Given the description of an element on the screen output the (x, y) to click on. 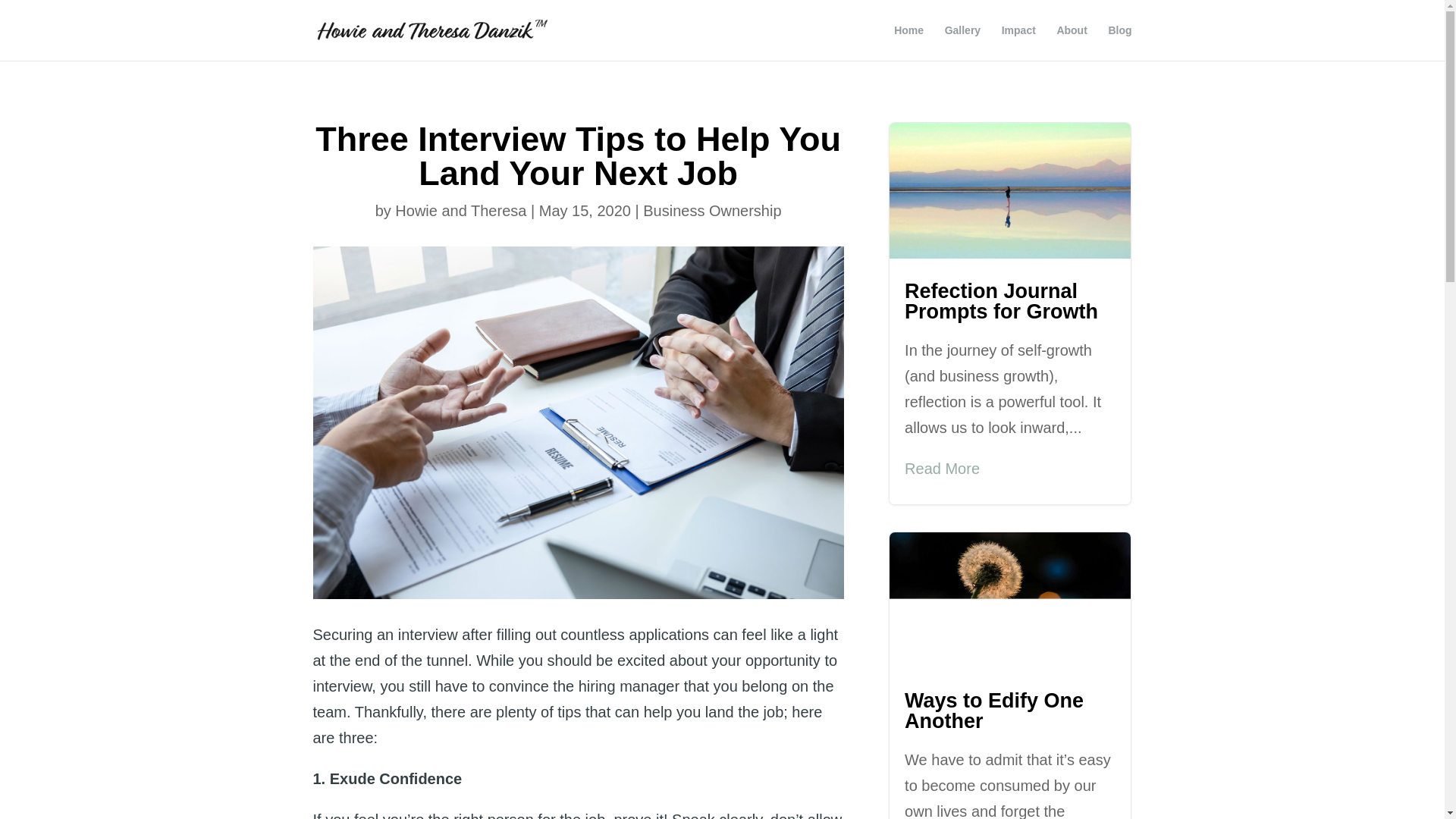
Howie and Theresa (459, 210)
Refection Journal Prompts for Growth  (1003, 301)
Impact (1018, 42)
Gallery (961, 42)
Posts by Howie and Theresa (459, 210)
Ways to Edify One Another  (993, 710)
Read More (941, 468)
Business Ownership (711, 210)
